Given the description of an element on the screen output the (x, y) to click on. 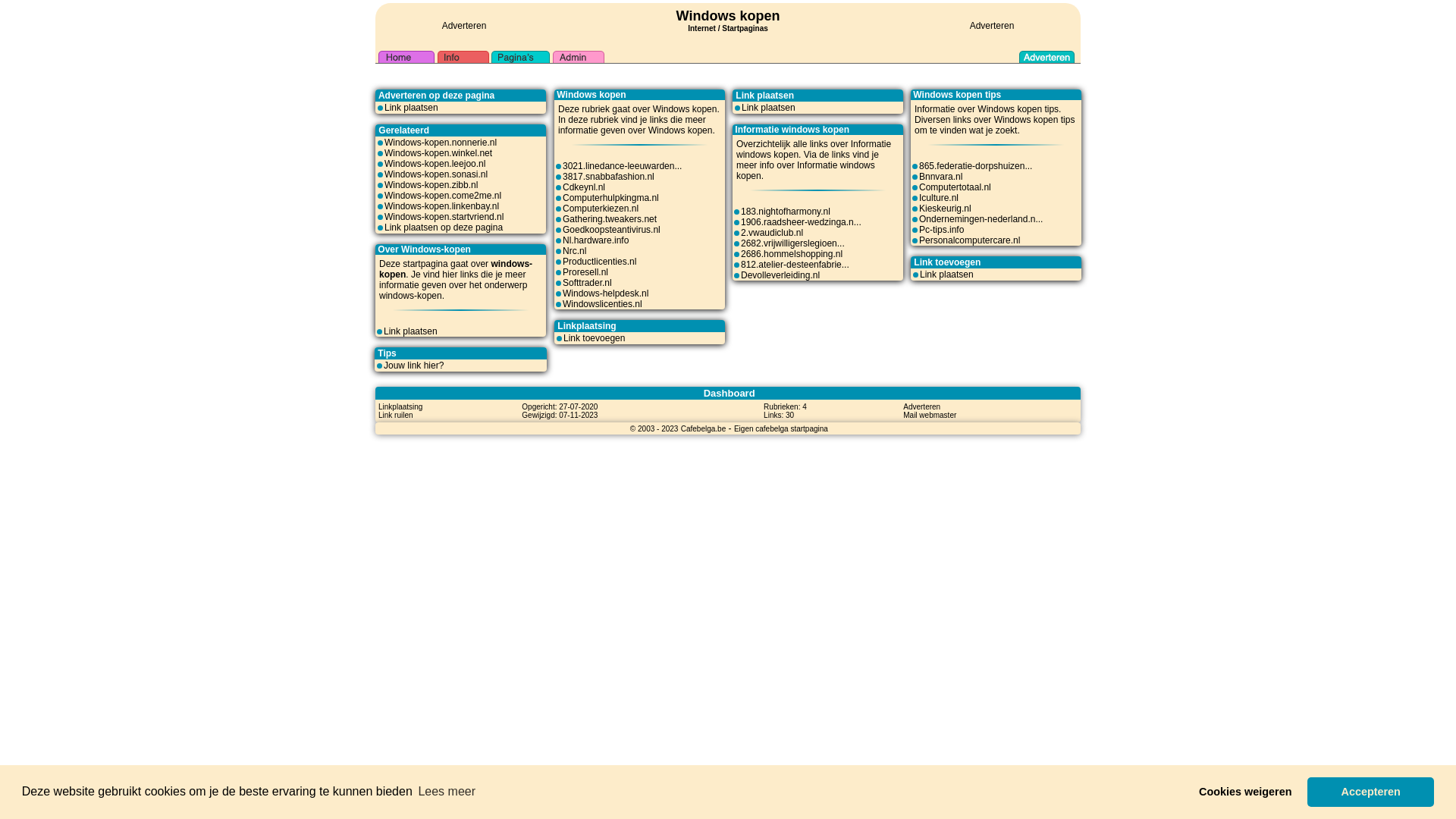
Kieskeurig.nl Element type: text (945, 208)
Productlicenties.nl Element type: text (599, 261)
Eigen cafebelga startpagina Element type: text (781, 428)
Pc-tips.info Element type: text (941, 229)
Link toevoegen Element type: text (593, 337)
Linkplaatsing Element type: text (400, 406)
Windows-kopen.startvriend.nl Element type: text (443, 216)
Windows-kopen.leejoo.nl Element type: text (434, 163)
Windows-kopen.linkenbay.nl Element type: text (441, 205)
Ondernemingen-nederland.n... Element type: text (980, 218)
Adverteren Element type: text (464, 25)
Accepteren Element type: text (1370, 791)
Computertotaal.nl Element type: text (955, 187)
Windowslicenties.nl Element type: text (602, 303)
865.federatie-dorpshuizen... Element type: text (975, 165)
Windows-kopen.sonasi.nl Element type: text (435, 174)
Goedkoopsteantivirus.nl Element type: text (611, 229)
Proresell.nl Element type: text (585, 271)
Cookies weigeren Element type: text (1245, 791)
183.nightofharmony.nl Element type: text (785, 211)
1906.raadsheer-wedzinga.n... Element type: text (800, 221)
Internet Element type: text (701, 26)
Computerhulpkingma.nl Element type: text (610, 197)
Gathering.tweakers.net Element type: text (609, 218)
Windows-kopen.zibb.nl Element type: text (430, 184)
2.vwaudiclub.nl Element type: text (771, 232)
Link plaatsen Element type: text (946, 274)
Link ruilen Element type: text (395, 414)
Link plaatsen Element type: text (411, 107)
3021.linedance-leeuwarden... Element type: text (621, 165)
Computerkiezen.nl Element type: text (600, 208)
Windows kopen Element type: text (728, 15)
Adverteren Element type: text (991, 25)
Softtrader.nl Element type: text (586, 282)
Cdkeynl.nl Element type: text (583, 187)
Windows-kopen.come2me.nl Element type: text (442, 195)
3817.snabbafashion.nl Element type: text (608, 176)
2682.vrijwilligerslegioen... Element type: text (792, 243)
Link plaatsen Element type: text (410, 331)
812.atelier-desteenfabrie... Element type: text (794, 264)
Bnnvara.nl Element type: text (940, 176)
Mail webmaster Element type: text (929, 414)
Link plaatsen op deze pagina Element type: text (443, 227)
Adverteren Element type: text (921, 406)
Cafebelga.be Element type: text (703, 428)
Nl.hardware.info Element type: text (595, 240)
Windows-helpdesk.nl Element type: text (605, 293)
Nrc.nl Element type: text (574, 250)
Windows-kopen.winkel.net Element type: text (438, 152)
Lees meer Element type: text (446, 791)
Windows-kopen.nonnerie.nl Element type: text (440, 142)
2686.hommelshopping.nl Element type: text (791, 253)
Link plaatsen Element type: text (768, 107)
Startpaginas Element type: text (744, 28)
Iculture.nl Element type: text (938, 197)
Jouw link hier? Element type: text (413, 365)
Devolleverleiding.nl Element type: text (779, 274)
Personalcomputercare.nl Element type: text (969, 240)
